Given the description of an element on the screen output the (x, y) to click on. 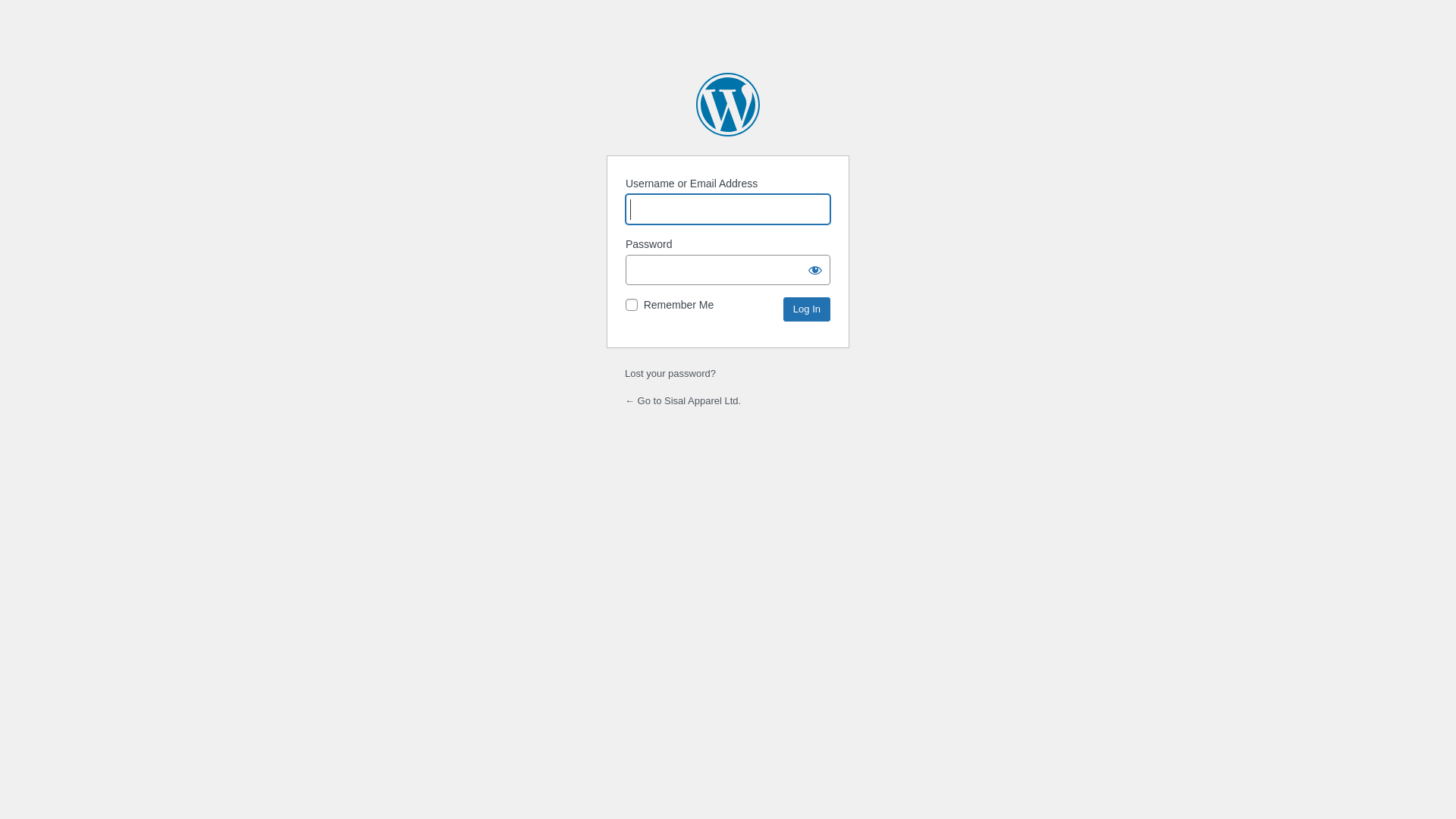
Powered by WordPress Element type: text (727, 104)
Lost your password? Element type: text (669, 373)
Log In Element type: text (806, 309)
